Given the description of an element on the screen output the (x, y) to click on. 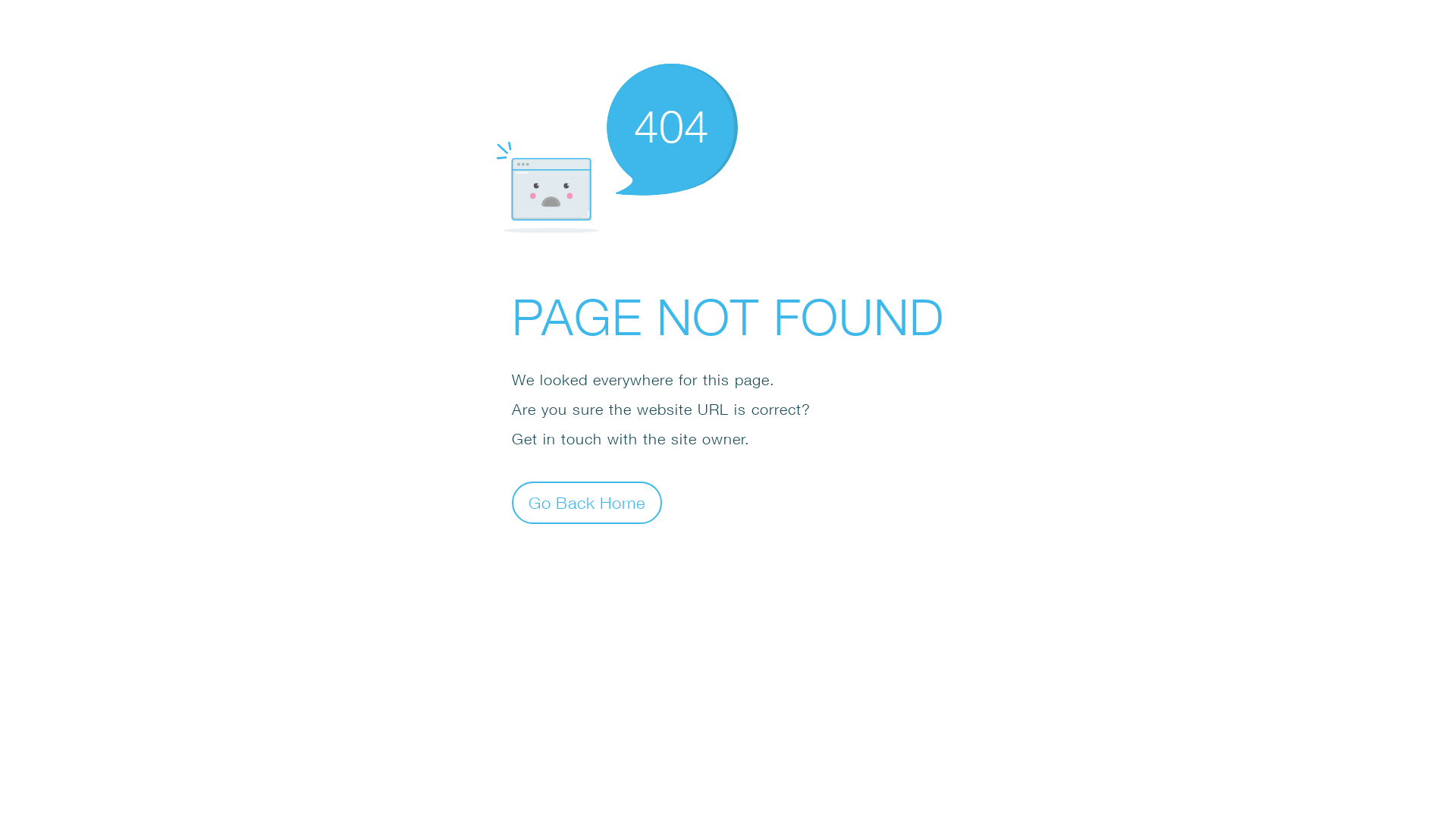
Go Back Home Element type: text (586, 502)
